Given the description of an element on the screen output the (x, y) to click on. 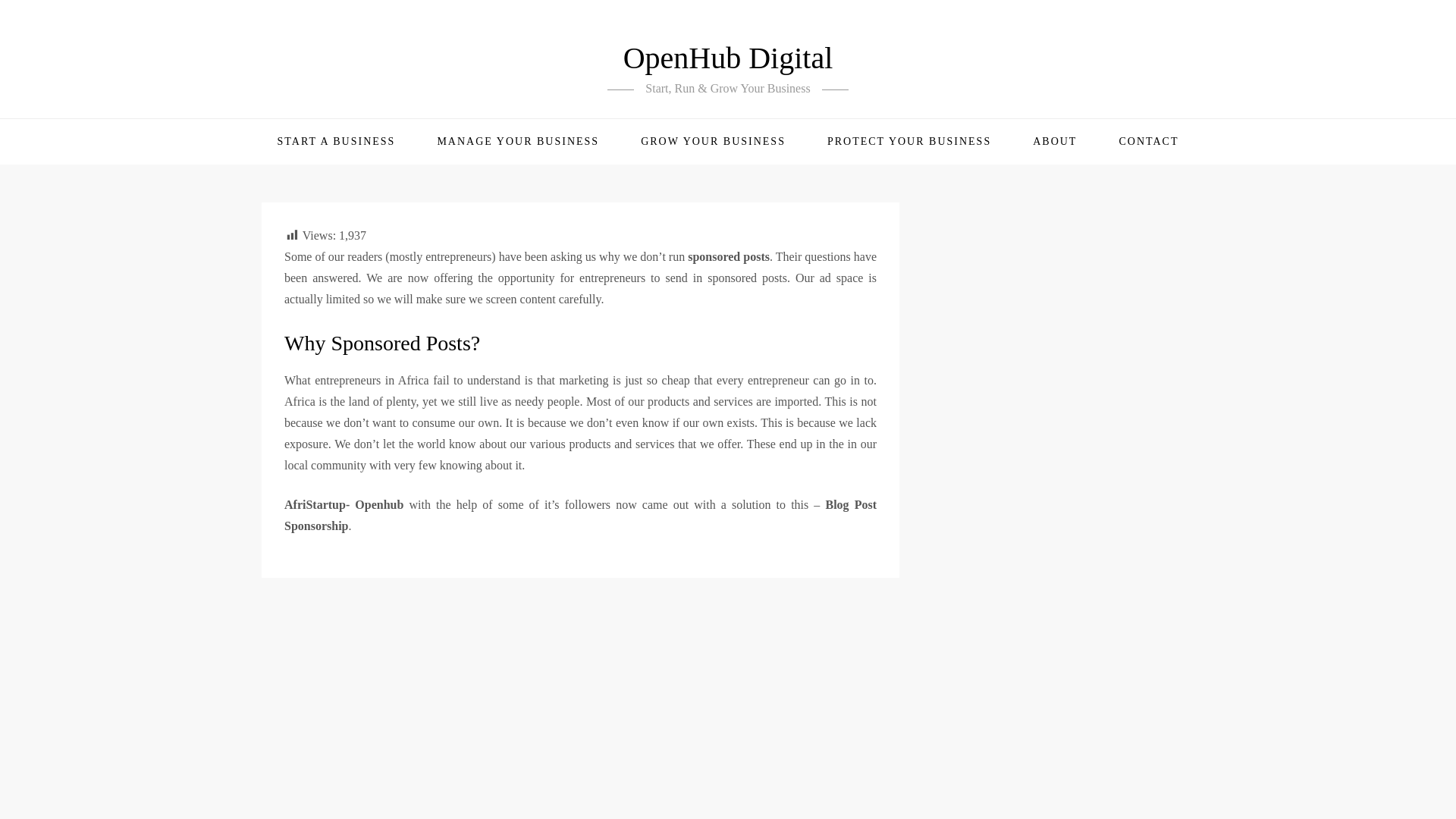
MANAGE YOUR BUSINESS (525, 141)
ABOUT (1062, 141)
OpenHub Digital (727, 57)
CONTACT (1147, 141)
START A BUSINESS (344, 141)
GROW YOUR BUSINESS (720, 141)
PROTECT YOUR BUSINESS (916, 141)
